Given the description of an element on the screen output the (x, y) to click on. 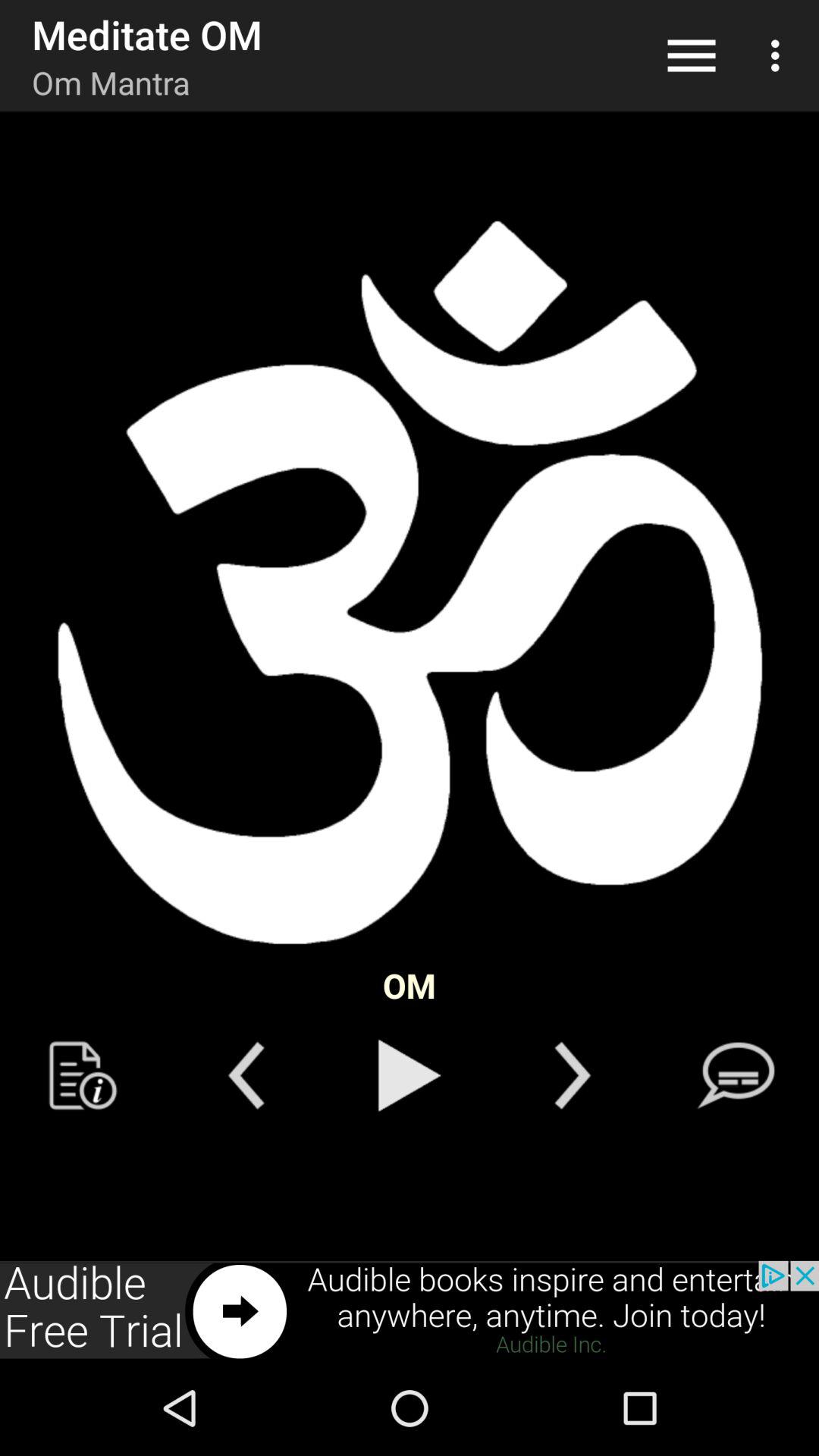
god symbol (409, 583)
